Given the description of an element on the screen output the (x, y) to click on. 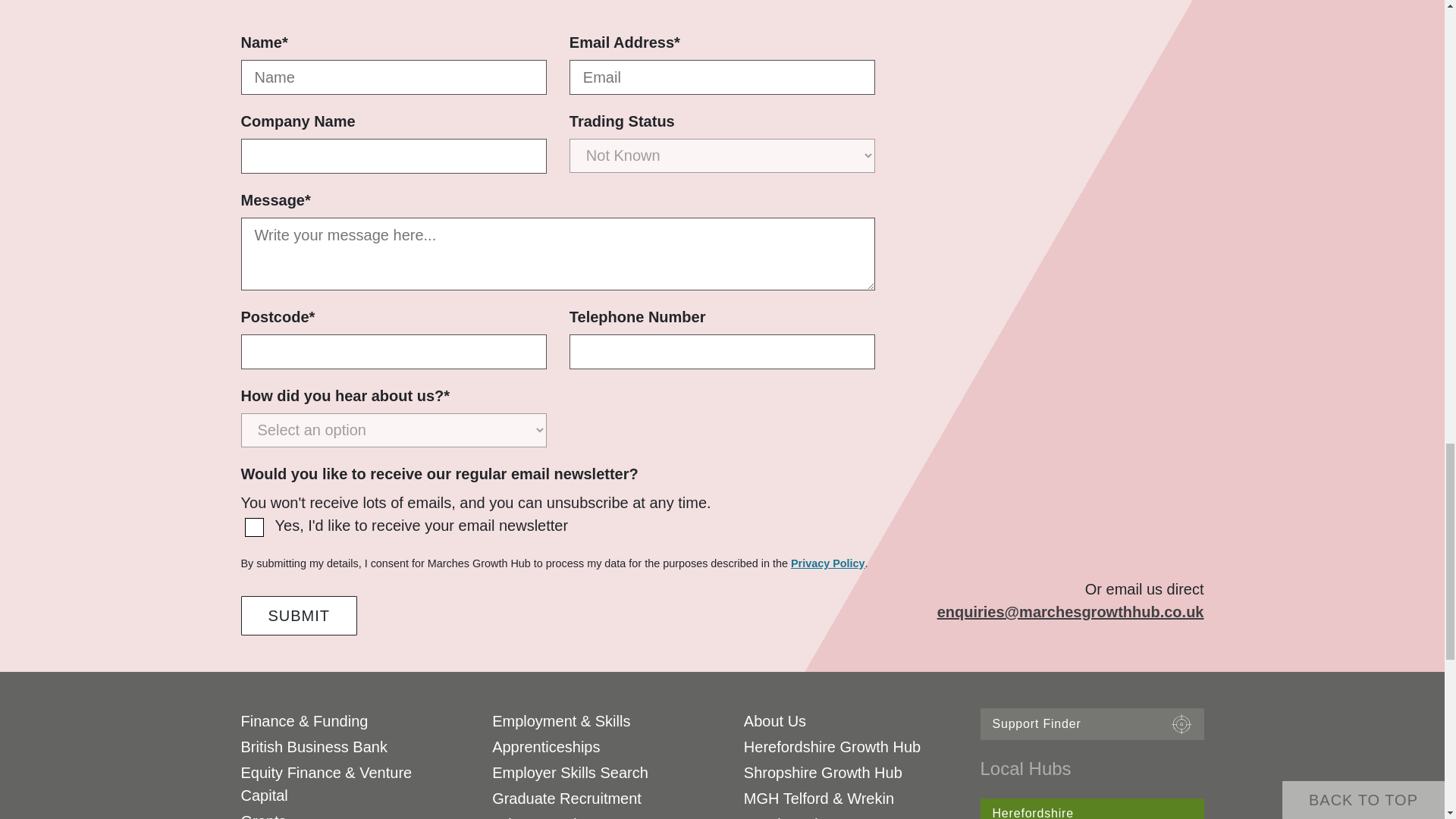
newsletter (253, 527)
Submit (299, 615)
